Given the description of an element on the screen output the (x, y) to click on. 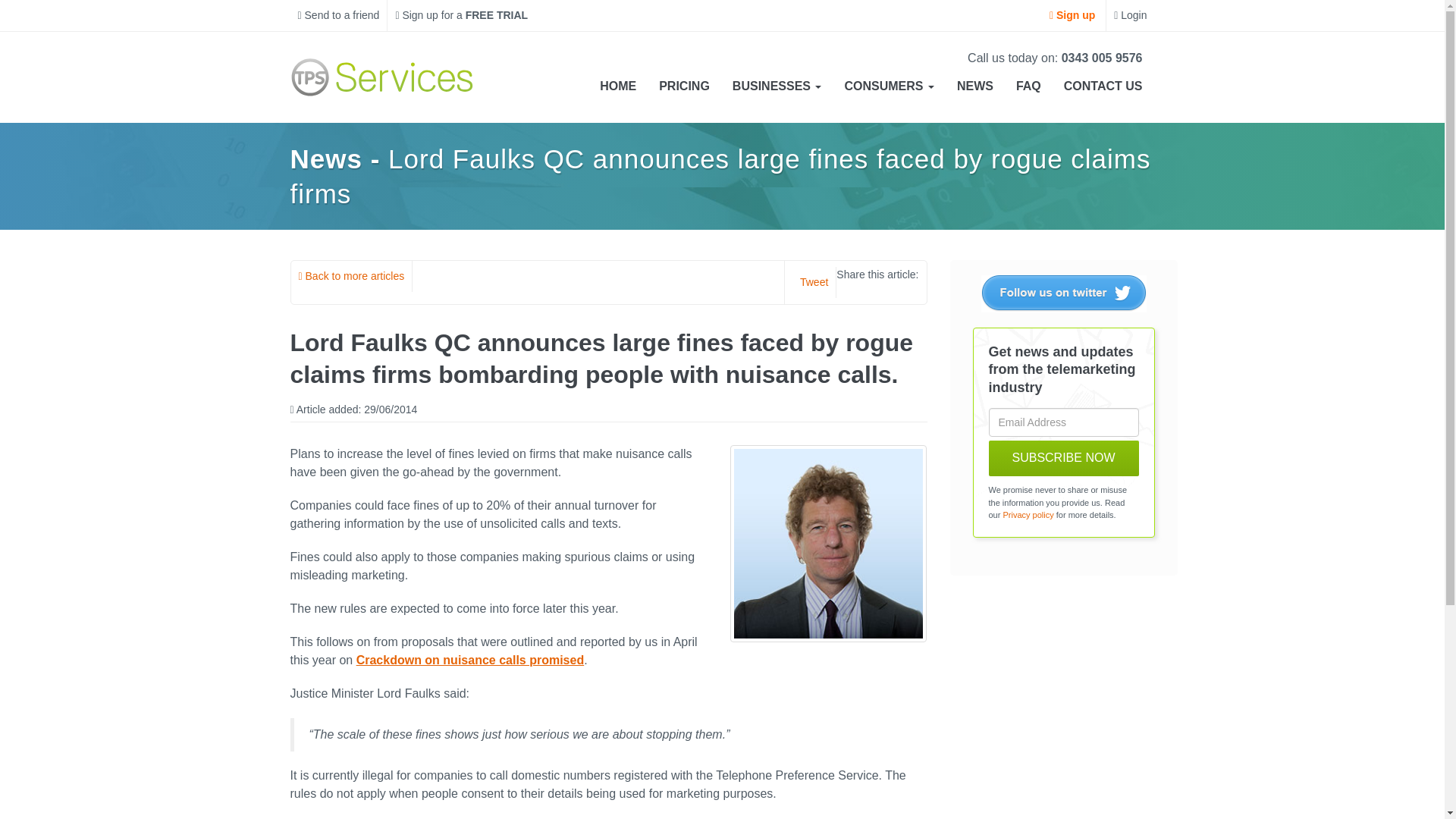
Login (1129, 15)
Sign up for a FREE TRIAL (461, 15)
HOME (617, 86)
PRICING (683, 86)
Sign up (1072, 15)
CONSUMERS (888, 86)
Send to a friend (338, 15)
BUSINESSES (776, 86)
Subscribe Now (1063, 457)
